Given the description of an element on the screen output the (x, y) to click on. 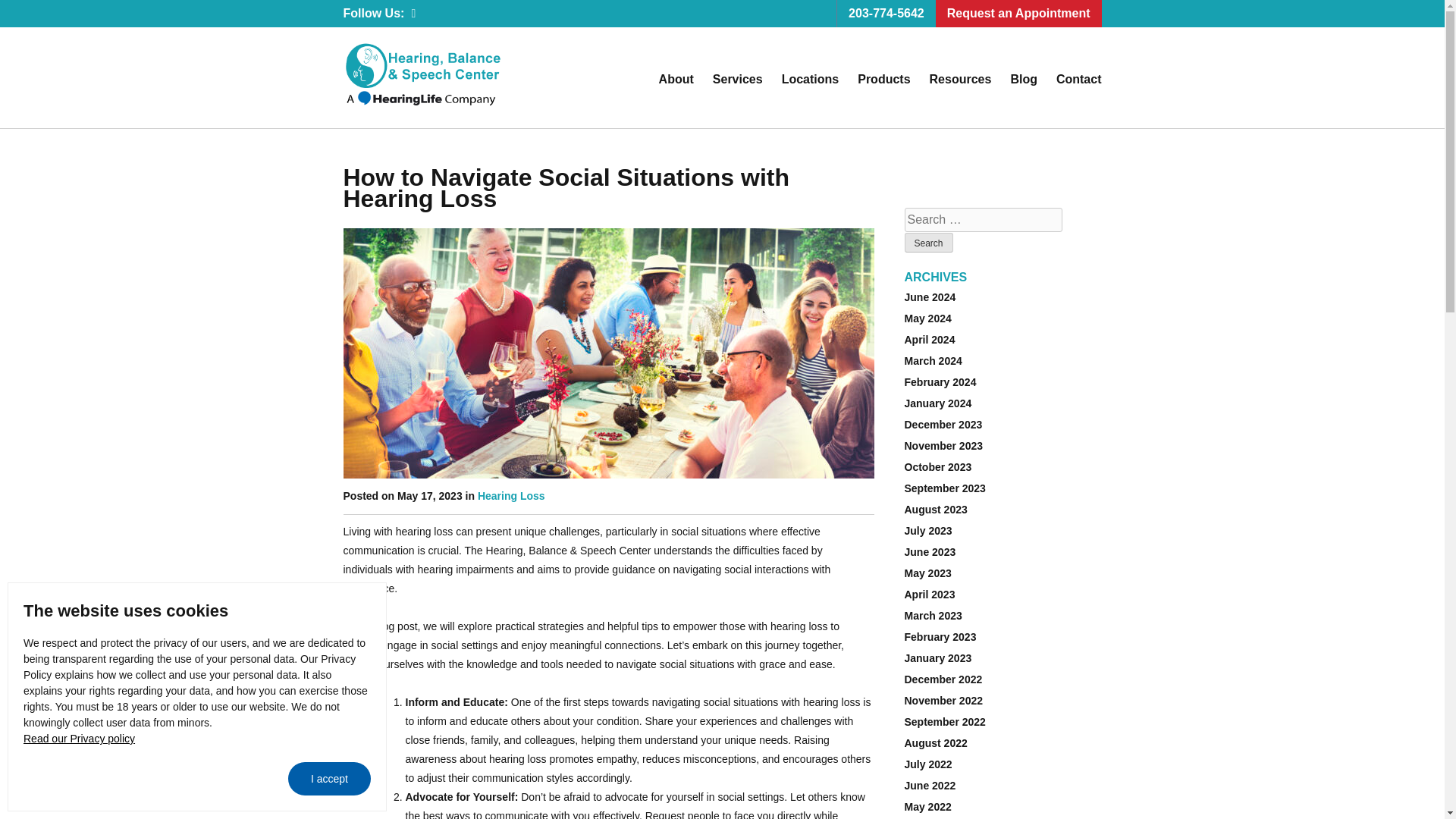
I accept (329, 778)
Blog (1023, 79)
Request an Appointment (1019, 13)
Services (737, 79)
Products (883, 79)
Contact (1079, 79)
Resources (960, 79)
Read our Privacy policy (79, 738)
203-774-5642 (886, 13)
About (676, 79)
Locations (810, 79)
Search (928, 242)
Search (928, 242)
